Given the description of an element on the screen output the (x, y) to click on. 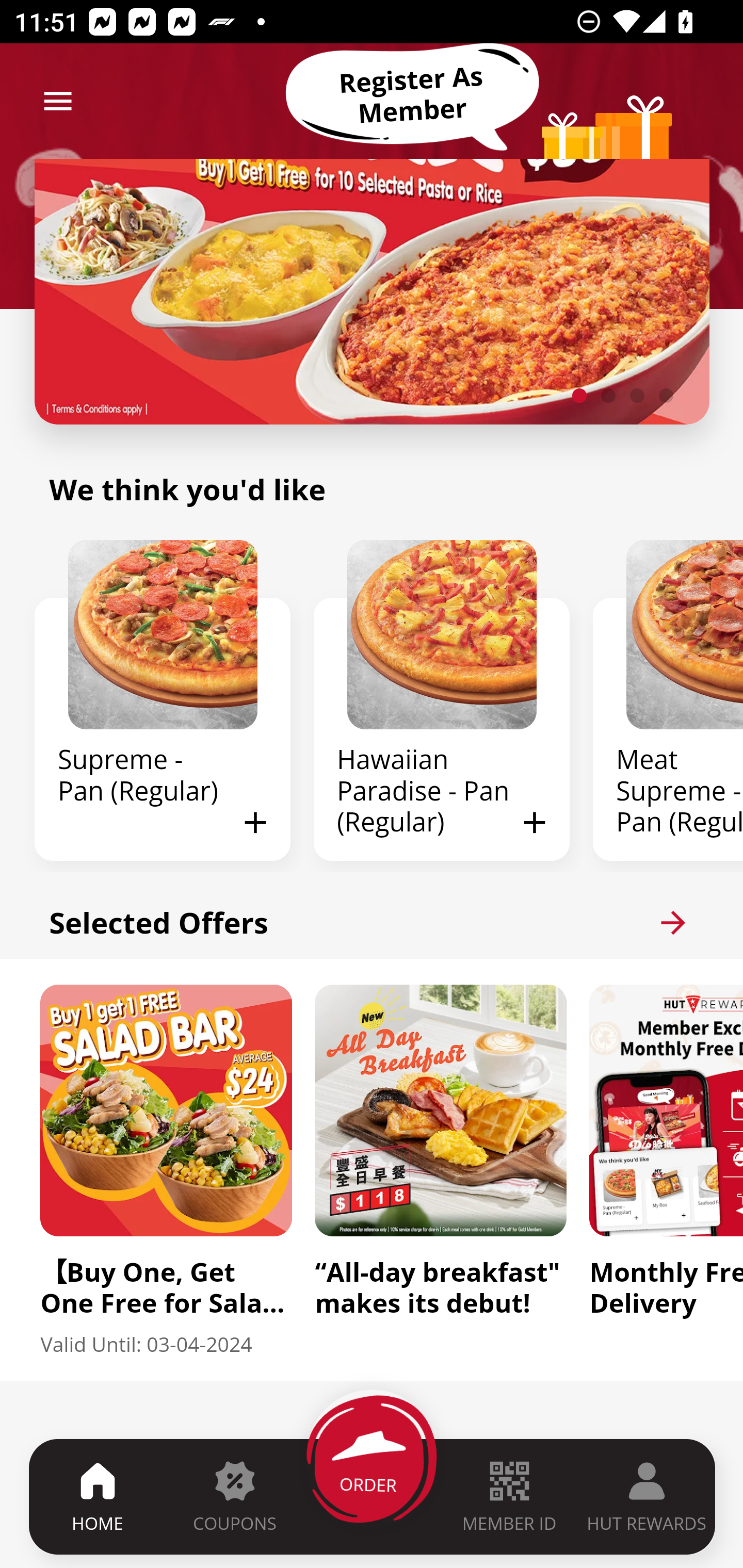
Register As Member (411, 95)
menu (58, 100)
arrow_forward (672, 922)
HOME (97, 1496)
COUPONS (234, 1496)
ORDER (372, 1496)
MEMBER ID (509, 1496)
HUT REWARDS (647, 1496)
